Given the description of an element on the screen output the (x, y) to click on. 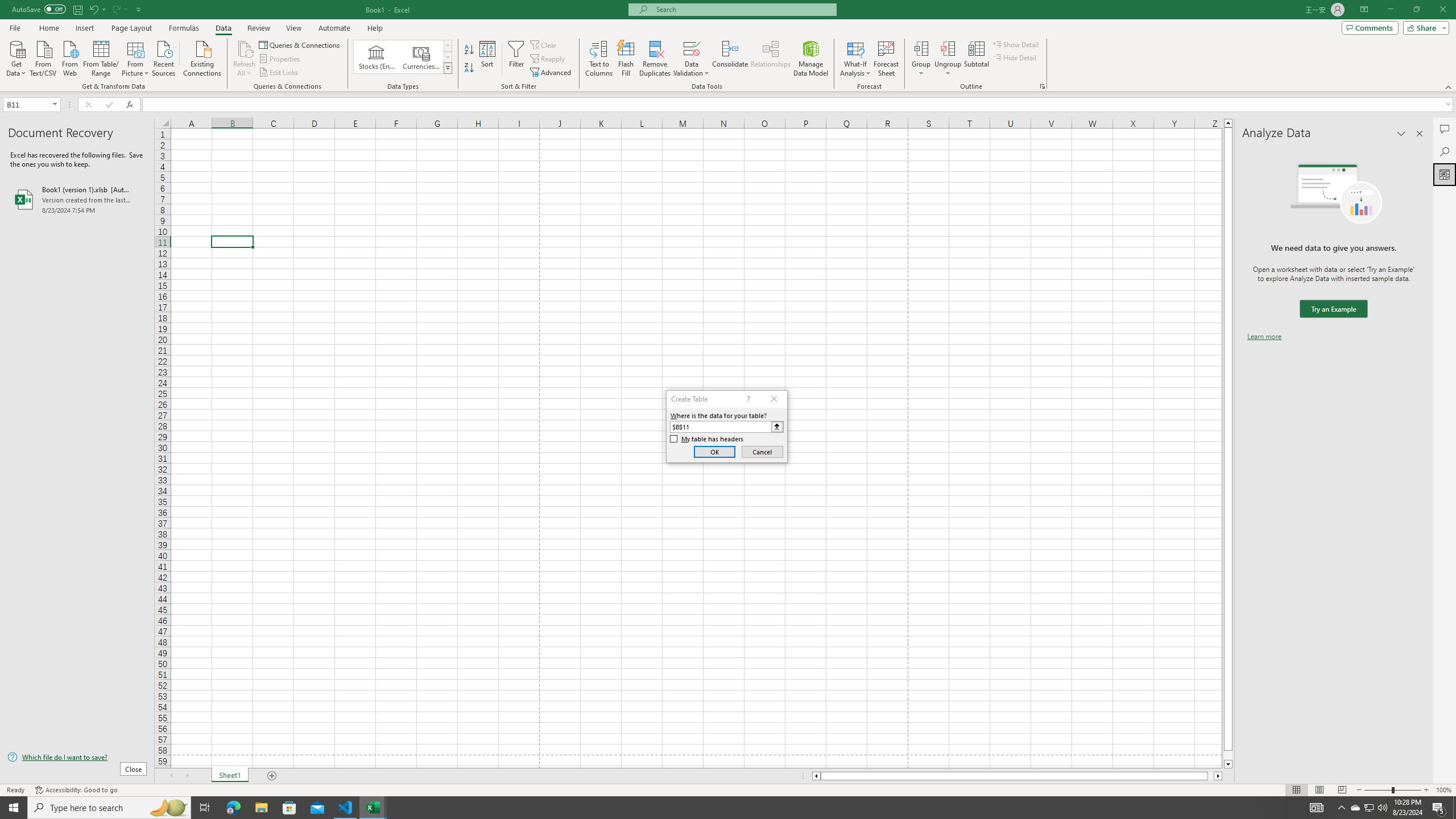
We need data to give you answers. Try an Example (1333, 308)
Sort A to Z (469, 49)
Relationships (770, 58)
